Given the description of an element on the screen output the (x, y) to click on. 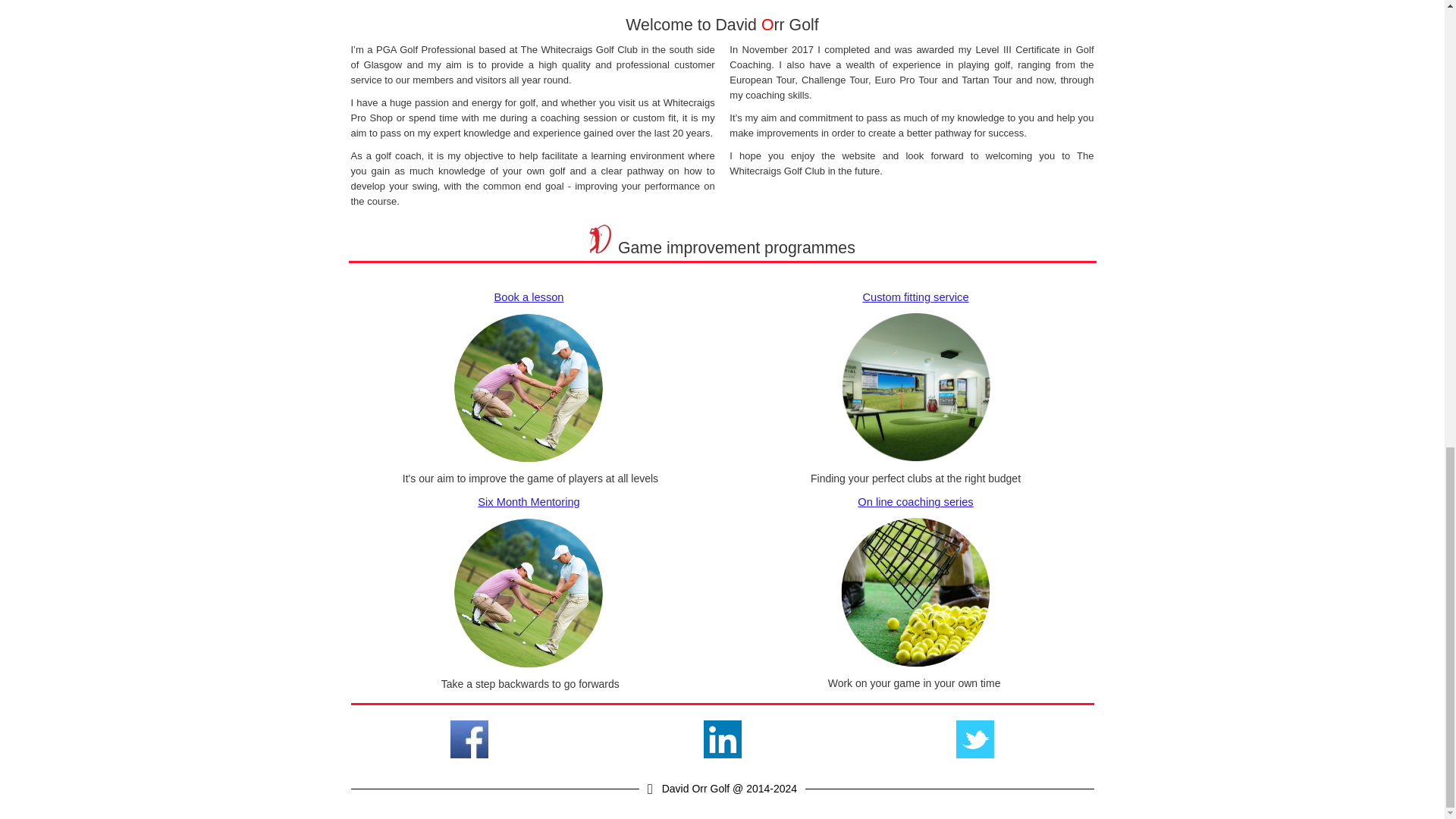
On line coaching series (914, 501)
Book a lesson (528, 297)
Six Month Mentoring (528, 501)
Custom fitting service (914, 297)
